Given the description of an element on the screen output the (x, y) to click on. 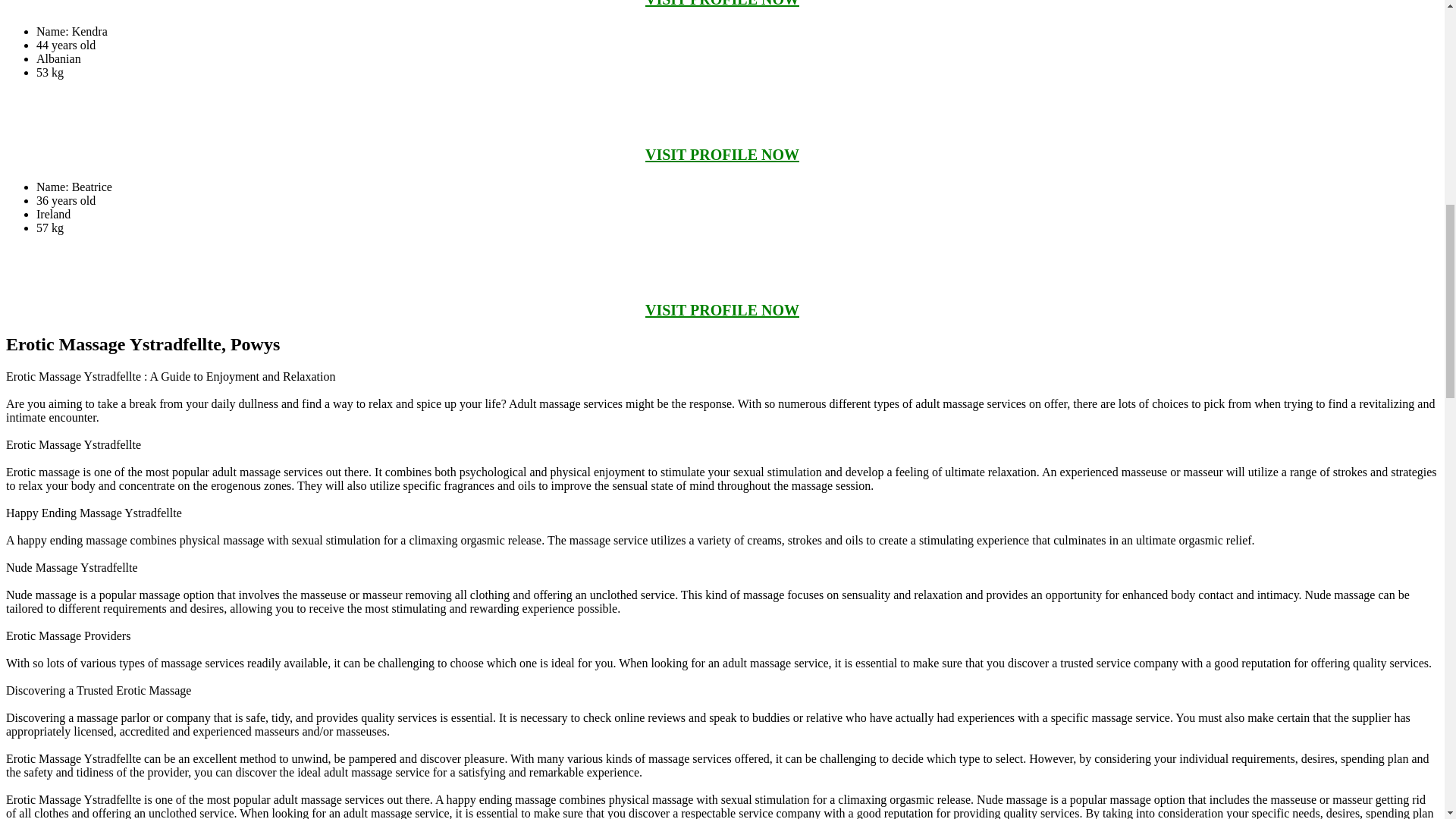
VISIT PROFILE NOW (722, 3)
VISIT PROFILE NOW (722, 154)
VISIT PROFILE NOW (722, 310)
